Given the description of an element on the screen output the (x, y) to click on. 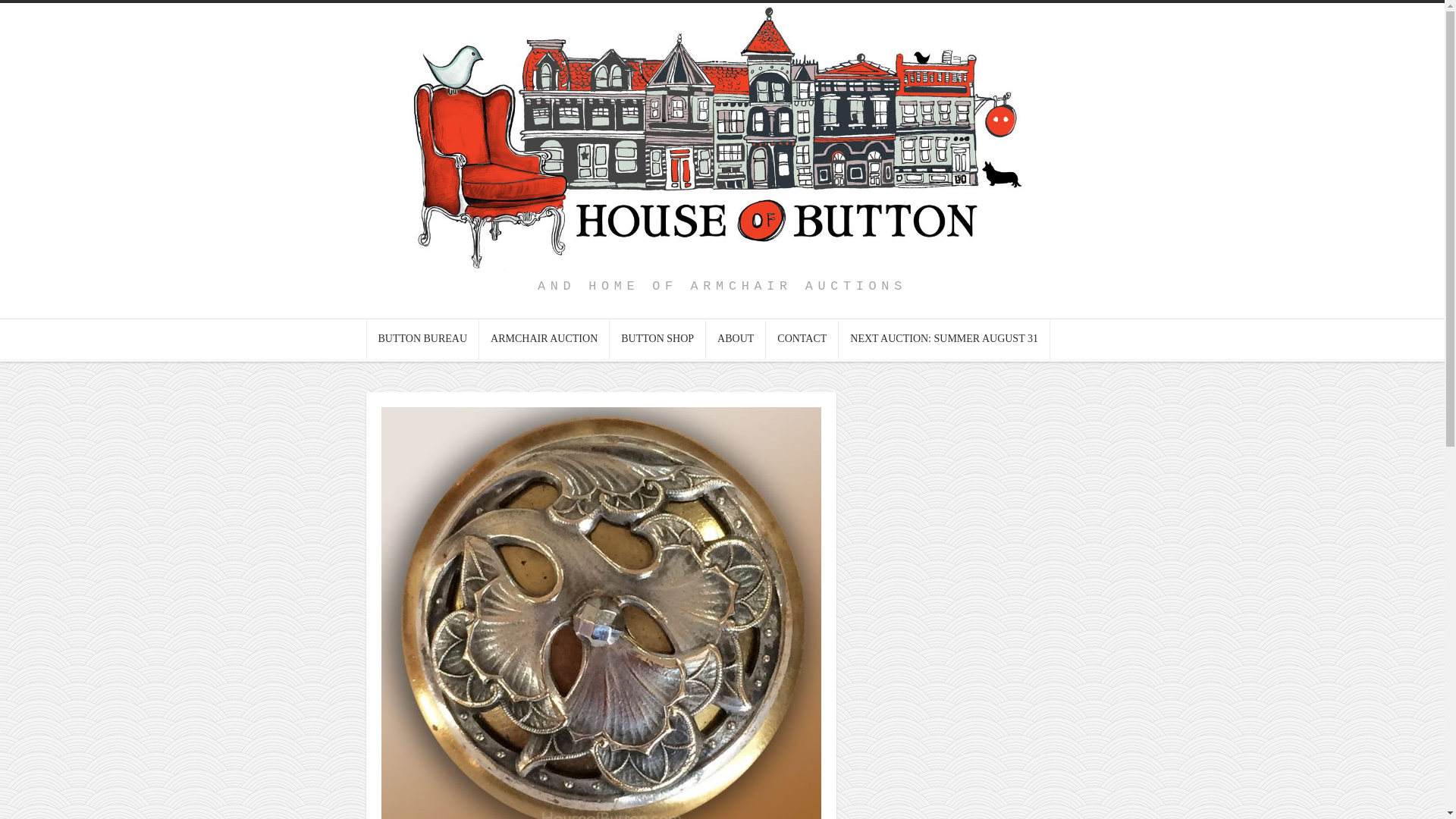
CONTACT (801, 339)
ARMCHAIR AUCTION (544, 339)
BUTTON BUREAU (422, 339)
NEXT AUCTION: SUMMER AUGUST 31 (943, 339)
ABOUT (735, 339)
BUTTON SHOP (658, 339)
